Given the description of an element on the screen output the (x, y) to click on. 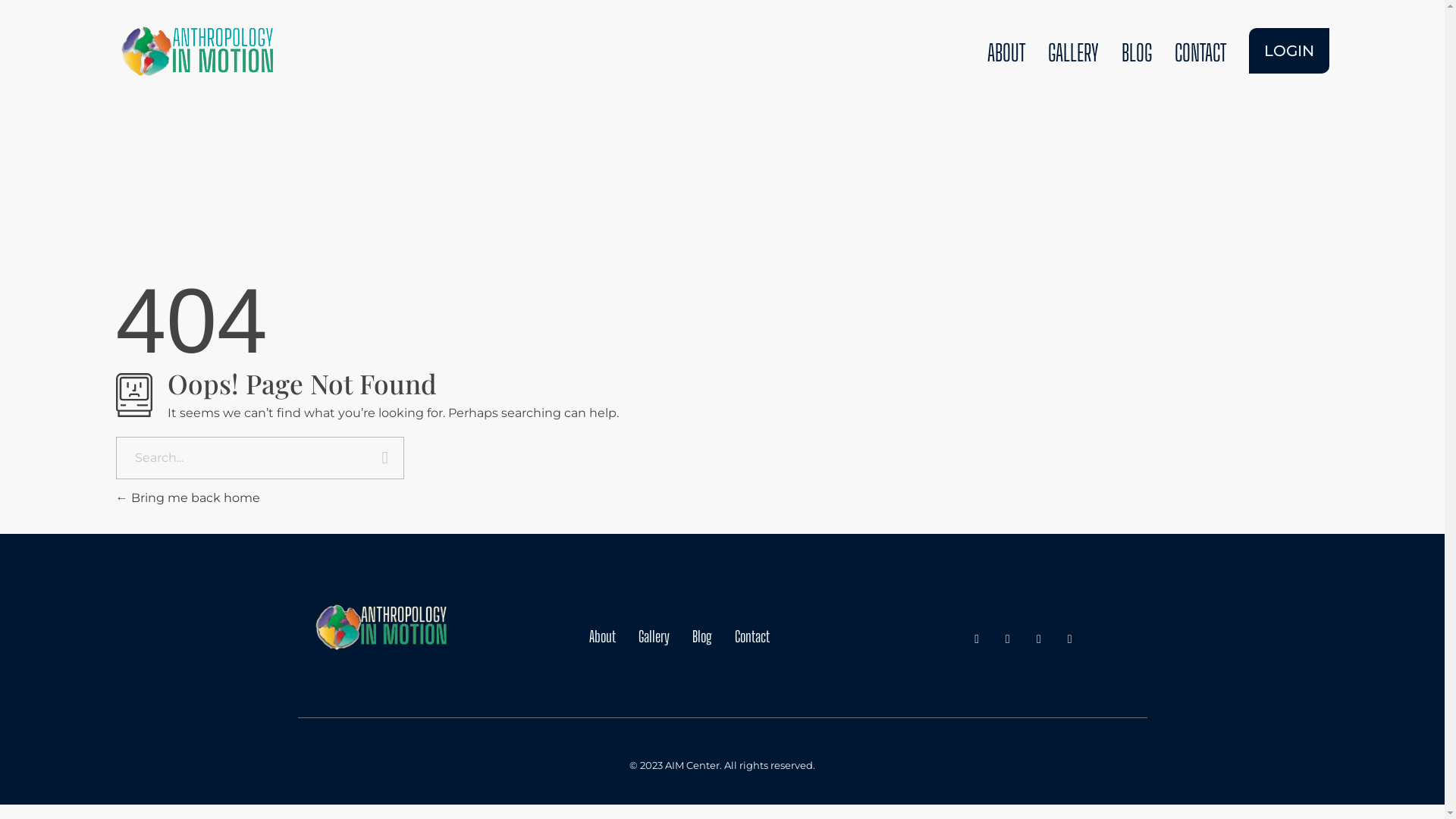
AIM Center Element type: text (360, 659)
LOGIN Element type: text (1288, 49)
AIM Center Element type: hover (379, 626)
ABOUT Element type: text (1005, 51)
CONTACT Element type: text (1200, 51)
Blog Element type: text (701, 635)
BLOG Element type: text (1136, 51)
Bring me back home Element type: text (187, 497)
GALLERY Element type: text (1072, 51)
Search Element type: text (385, 459)
AIM Center Element type: text (163, 89)
Contact Element type: text (752, 635)
About Element type: text (602, 635)
AIM Center Element type: hover (194, 51)
Gallery Element type: text (653, 635)
